Given the description of an element on the screen output the (x, y) to click on. 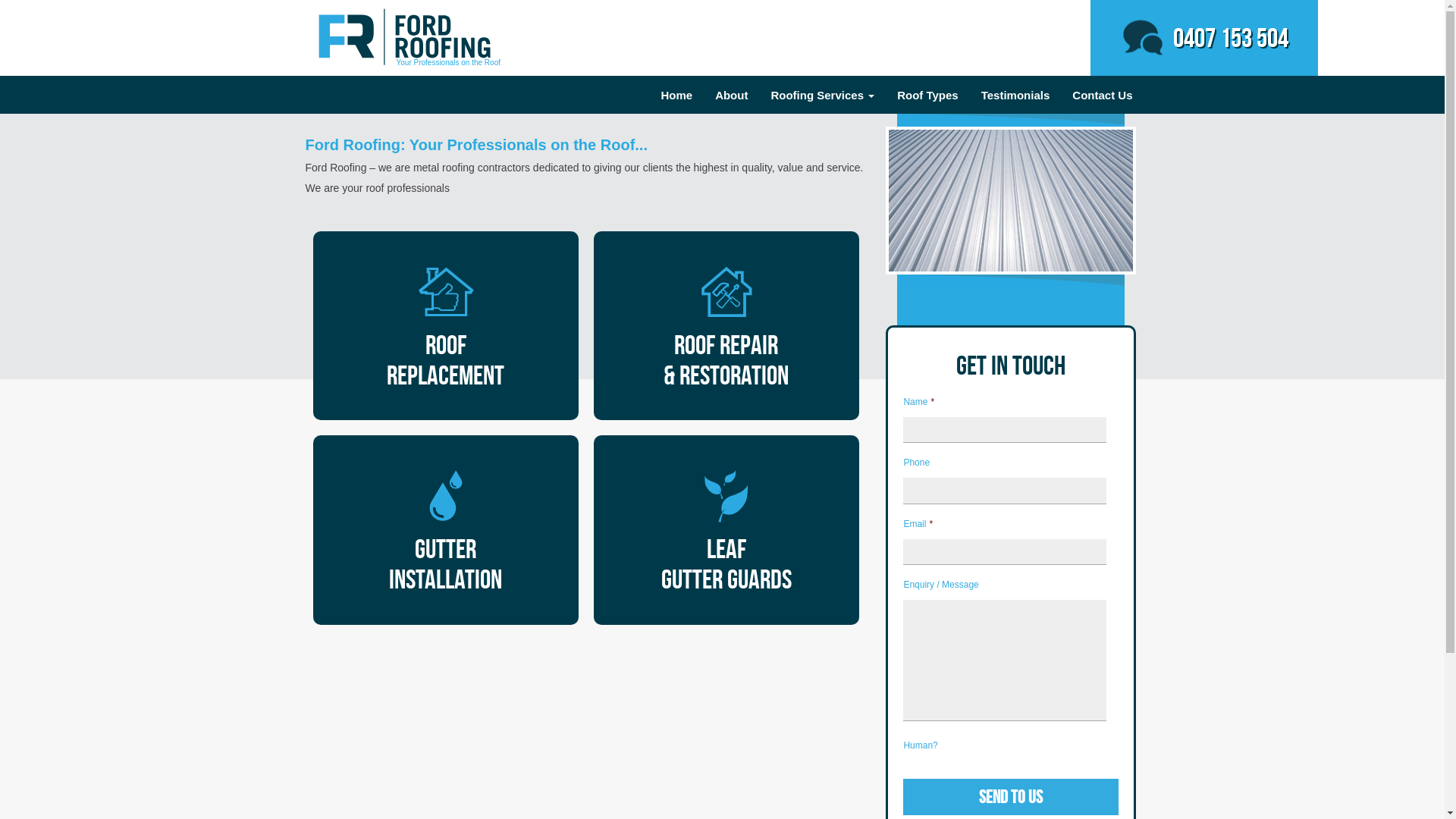
Home Element type: text (676, 95)
Testimonials Element type: text (1015, 95)
Send to Us Element type: text (1010, 796)
Ford Roofing Element type: hover (403, 36)
Roof Repair
& Restoration Element type: text (725, 325)
About Element type: text (731, 95)
Ford Roofing Element type: hover (403, 35)
Roofing Services Element type: text (822, 95)
Roof
Replacement Element type: text (444, 325)
Leaf
Gutter Guards Element type: text (725, 529)
0407 153 504 Element type: text (1203, 37)
Home02 Element type: hover (1010, 201)
Gutter
Installation Element type: text (444, 529)
Roof Types Element type: text (927, 95)
Contact Us Element type: text (1101, 95)
